Given the description of an element on the screen output the (x, y) to click on. 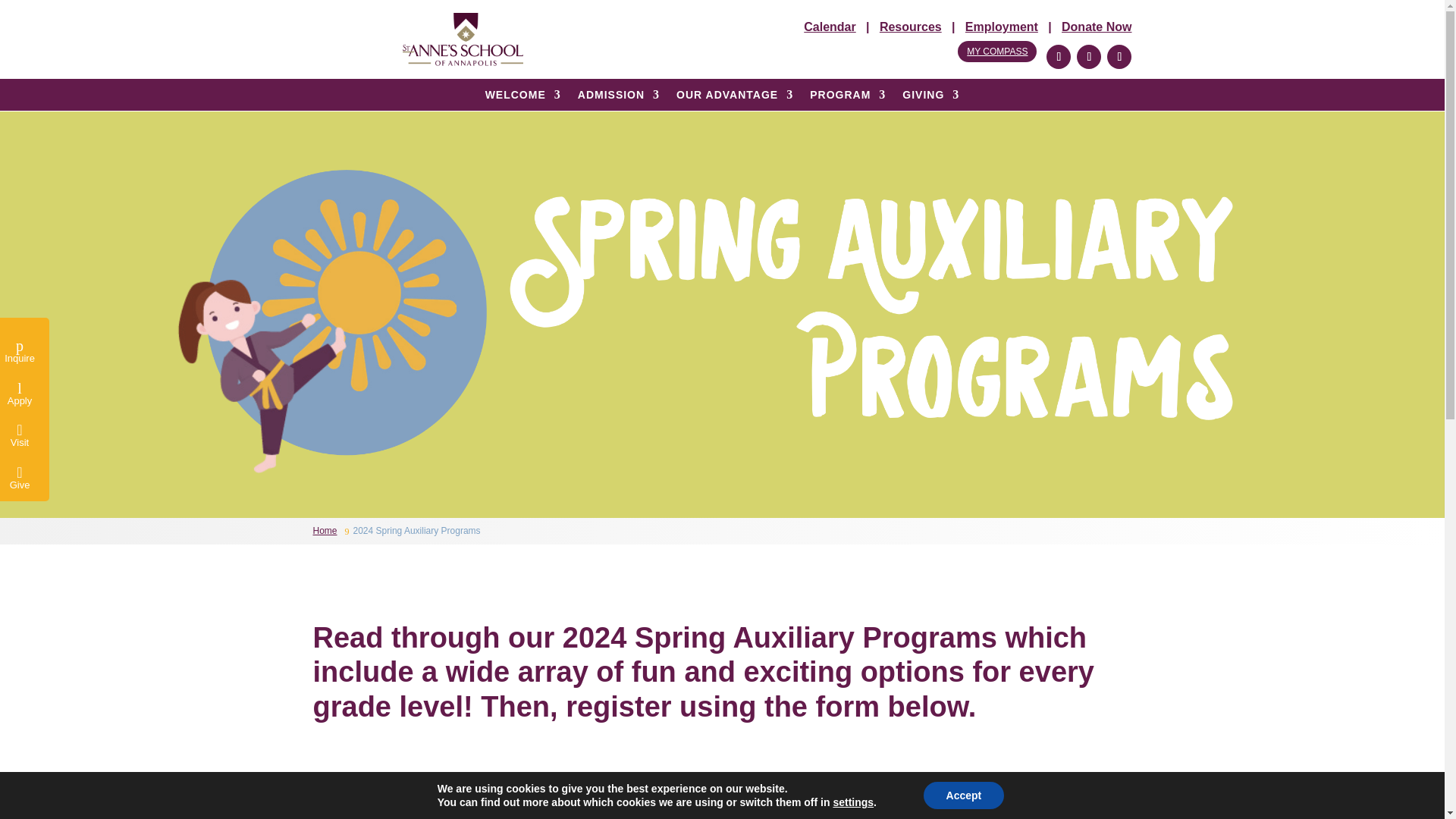
st annes logo (462, 39)
Follow on Facebook (1058, 56)
Resources (910, 26)
GIVING (930, 97)
WELCOME (522, 97)
Follow on Instagram (1088, 56)
Donate Now (1096, 26)
MY COMPASS (997, 51)
PROGRAM (847, 97)
Employment (1001, 26)
Calendar (829, 26)
ADMISSION (618, 97)
OUR ADVANTAGE (735, 97)
Follow on Google (1118, 56)
